Given the description of an element on the screen output the (x, y) to click on. 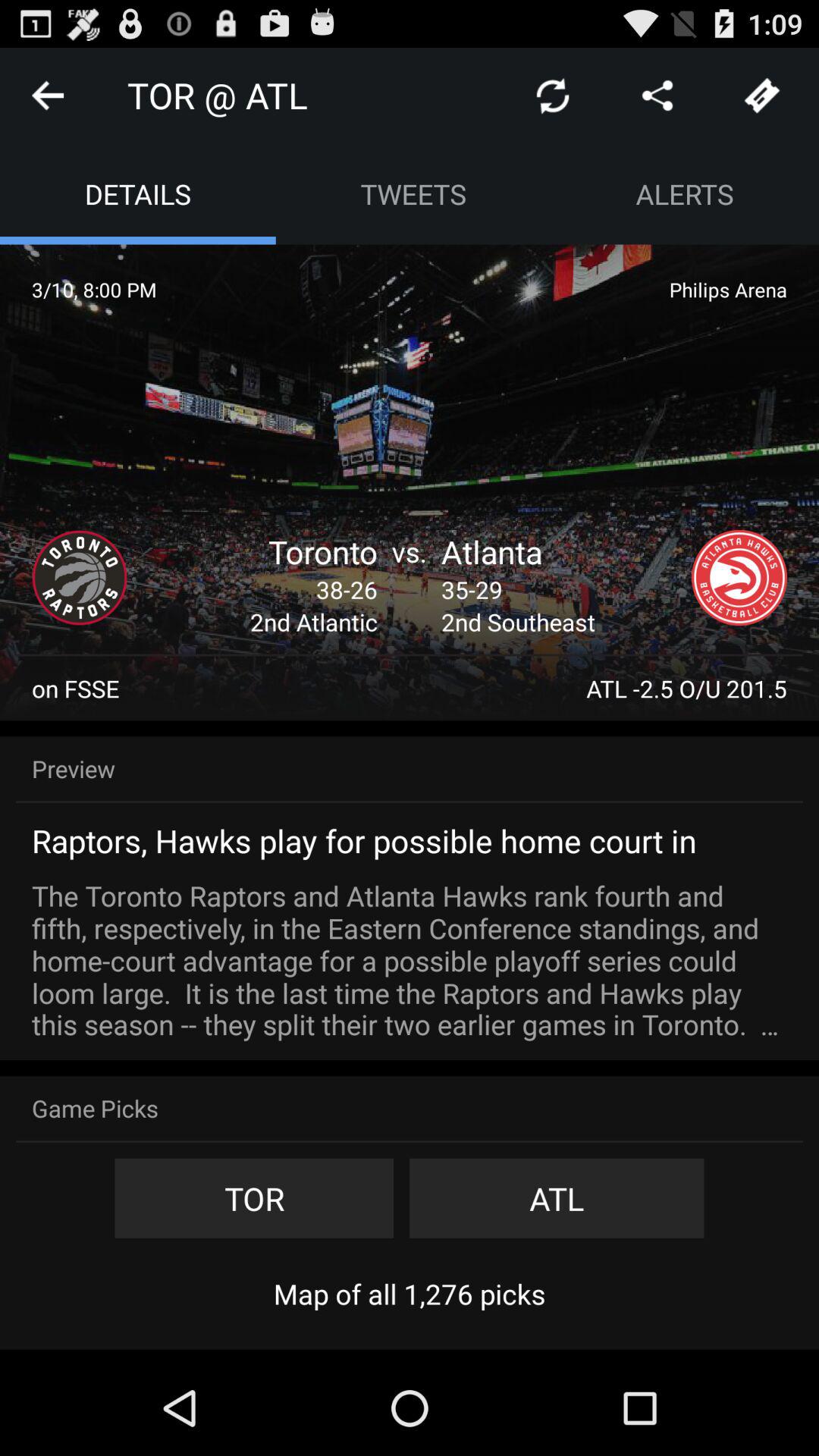
view tickets (762, 95)
